Given the description of an element on the screen output the (x, y) to click on. 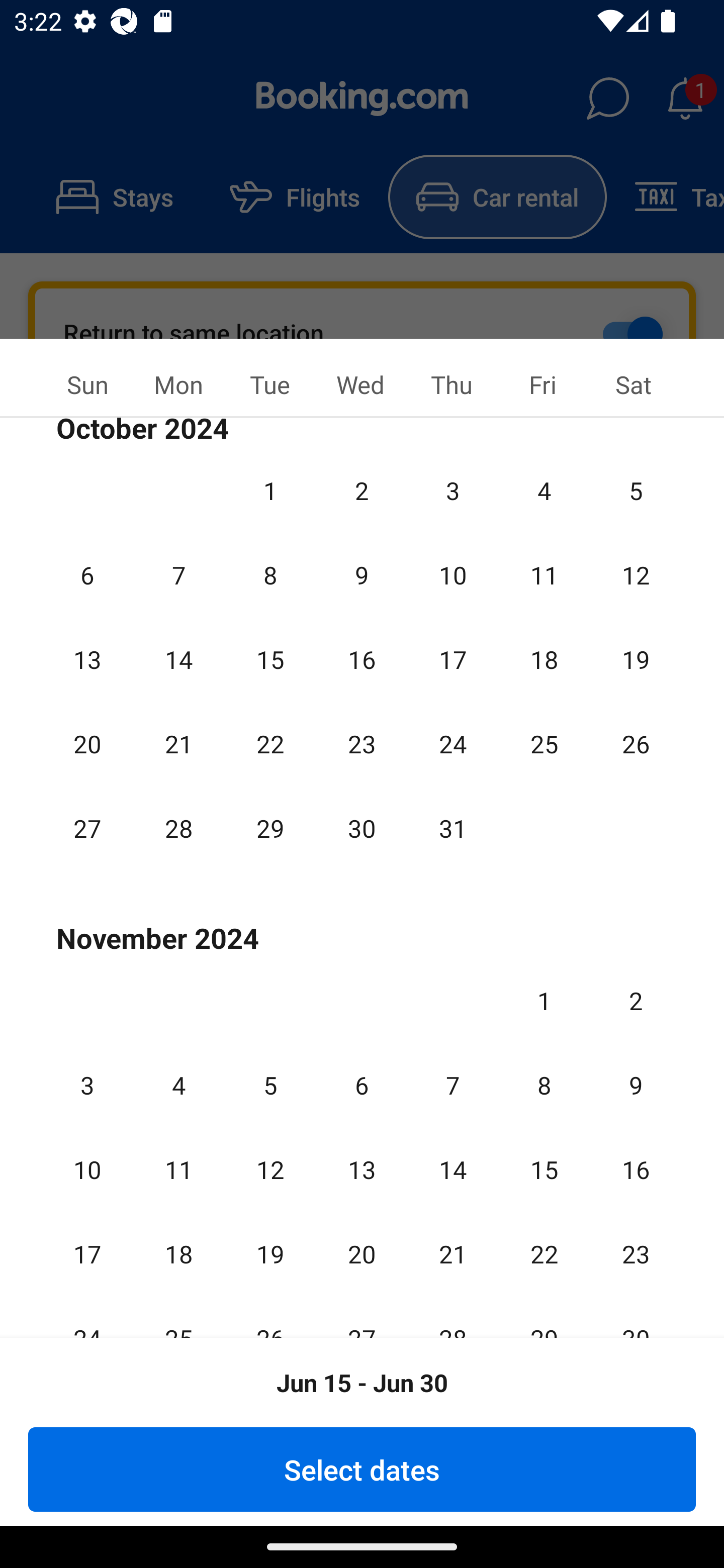
Select dates (361, 1468)
